Given the description of an element on the screen output the (x, y) to click on. 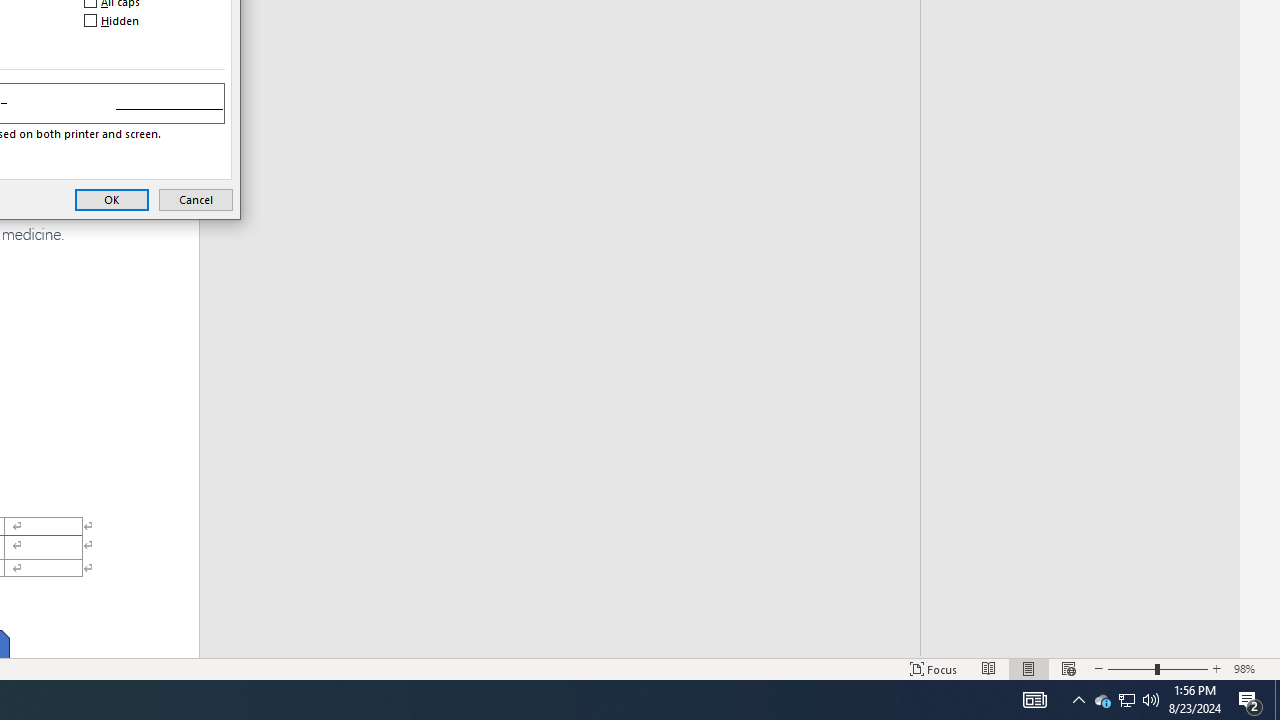
Zoom (1158, 668)
Q2790: 100% (1151, 699)
AutomationID: 4105 (1034, 699)
Print Layout (1028, 668)
Hidden (113, 20)
